Given the description of an element on the screen output the (x, y) to click on. 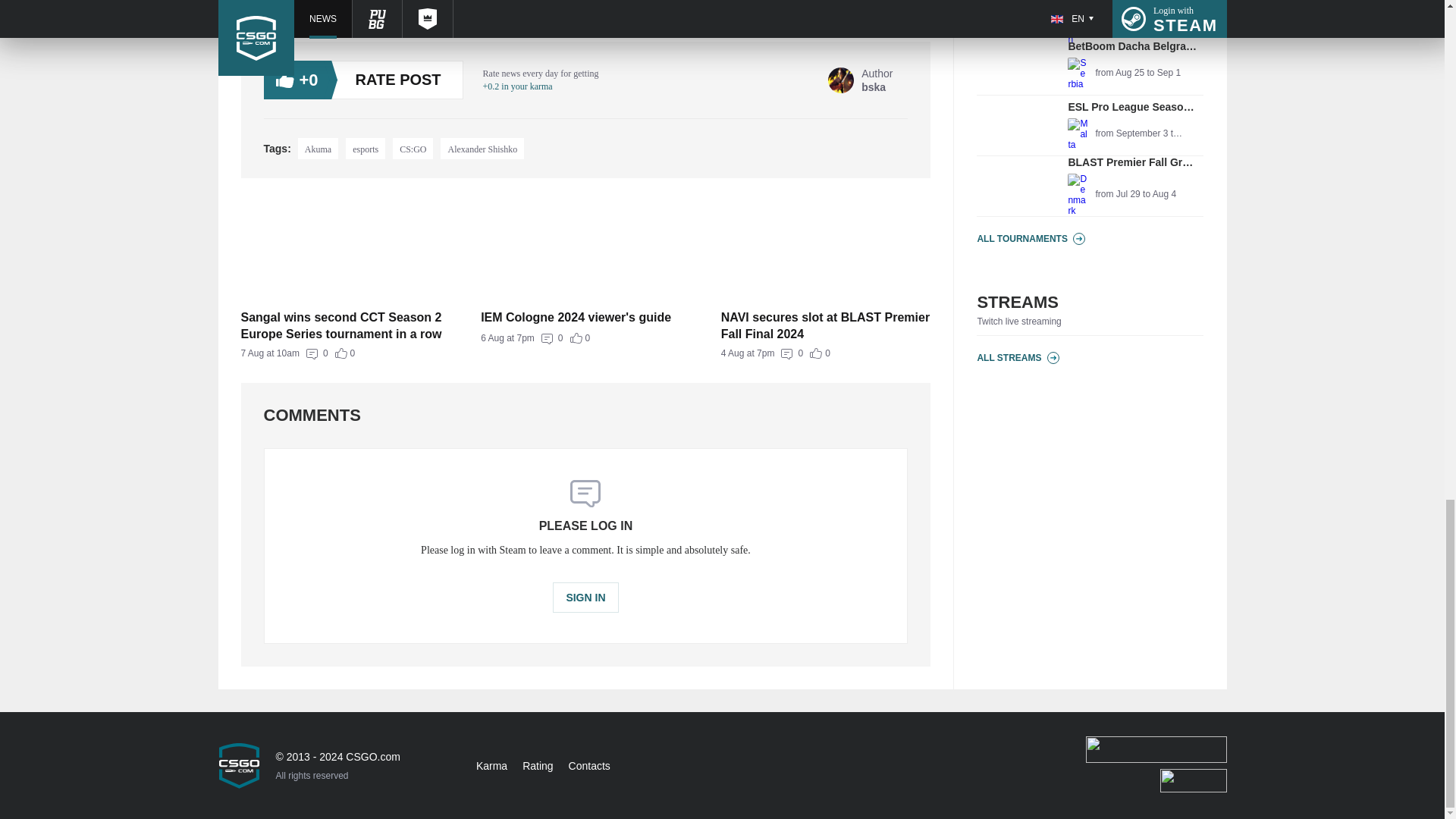
SIGN IN (346, 353)
NAVI secures slot at BLAST Premier Fall Final 2024 (585, 597)
CS:GO (825, 353)
Akuma (825, 325)
Alexander Shishko (1090, 17)
